Given the description of an element on the screen output the (x, y) to click on. 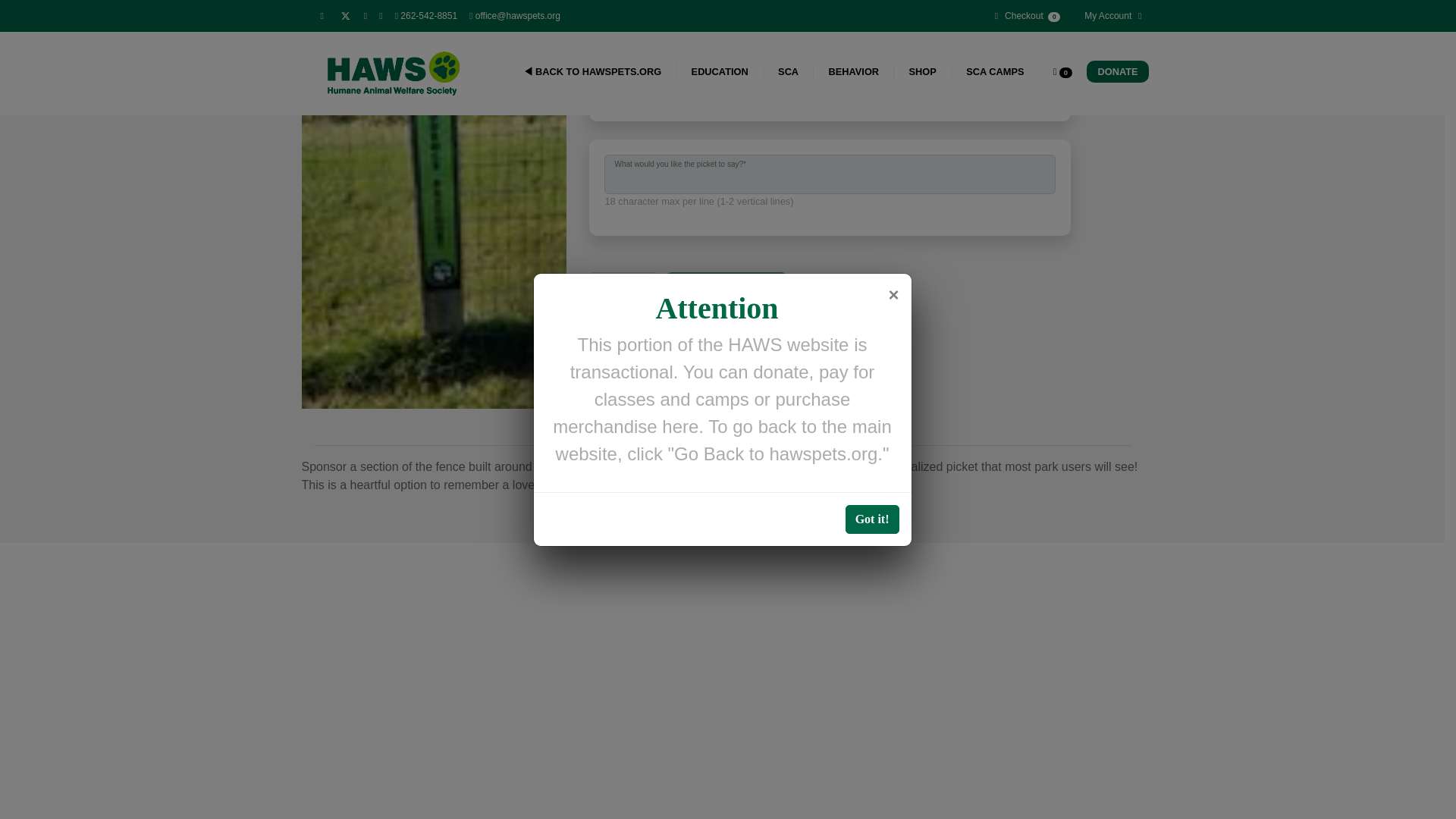
0 (665, 75)
1 (619, 75)
